Given the description of an element on the screen output the (x, y) to click on. 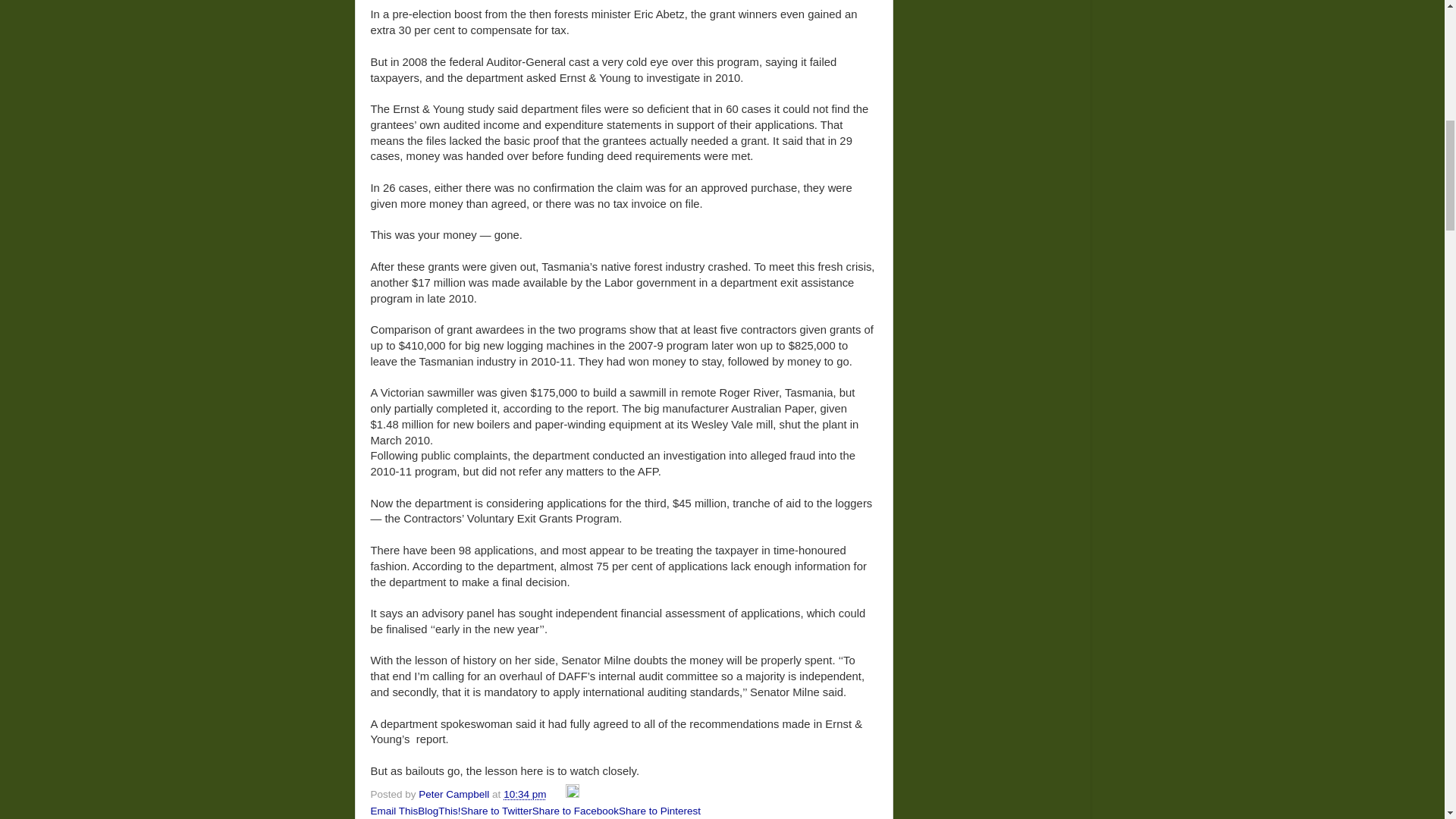
Share to Pinterest (659, 810)
Email This (393, 810)
Share to Twitter (496, 810)
Peter Campbell (455, 794)
Share to Facebook (575, 810)
Share to Twitter (496, 810)
Share to Pinterest (659, 810)
permanent link (524, 794)
author profile (455, 794)
Email Post (557, 794)
Email This (393, 810)
Share to Facebook (575, 810)
BlogThis! (438, 810)
10:34 pm (524, 794)
BlogThis! (438, 810)
